Given the description of an element on the screen output the (x, y) to click on. 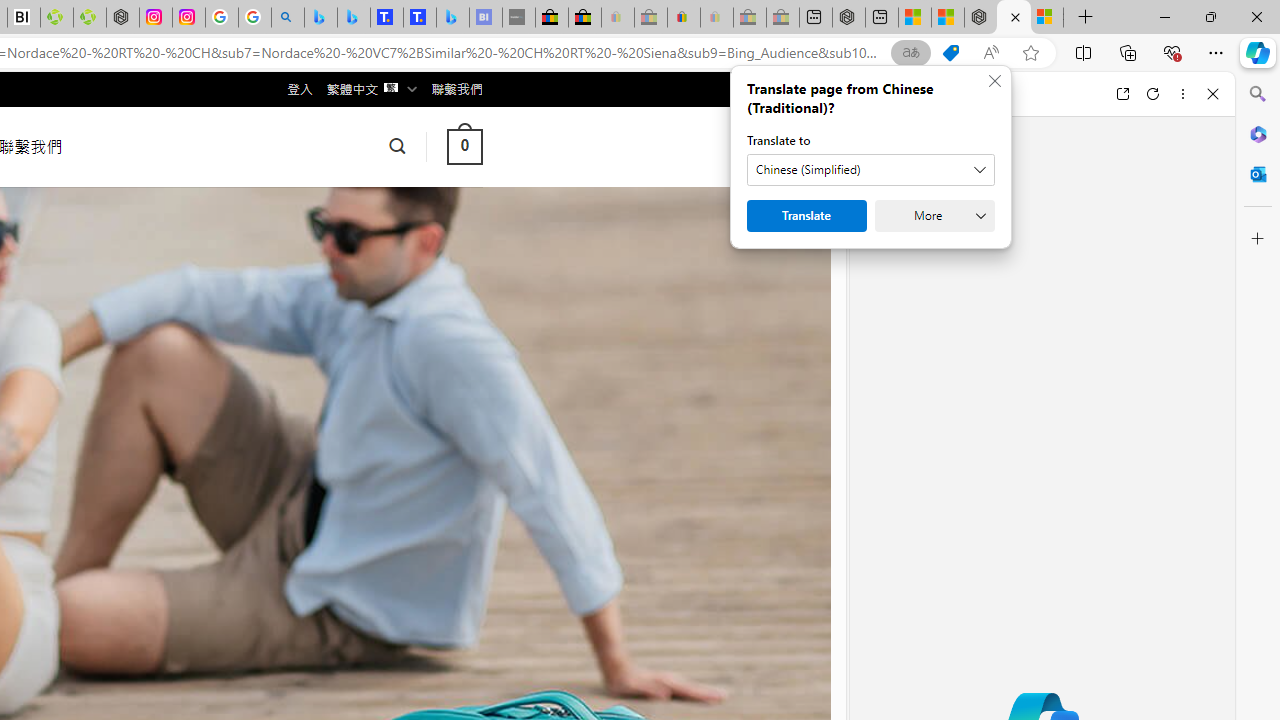
Microsoft Bing Travel - Flights from Hong Kong to Bangkok (320, 17)
Show translate options (910, 53)
Yard, Garden & Outdoor Living - Sleeping (782, 17)
Customize (1258, 239)
Descarga Driver Updater (90, 17)
Chat (884, 93)
